Given the description of an element on the screen output the (x, y) to click on. 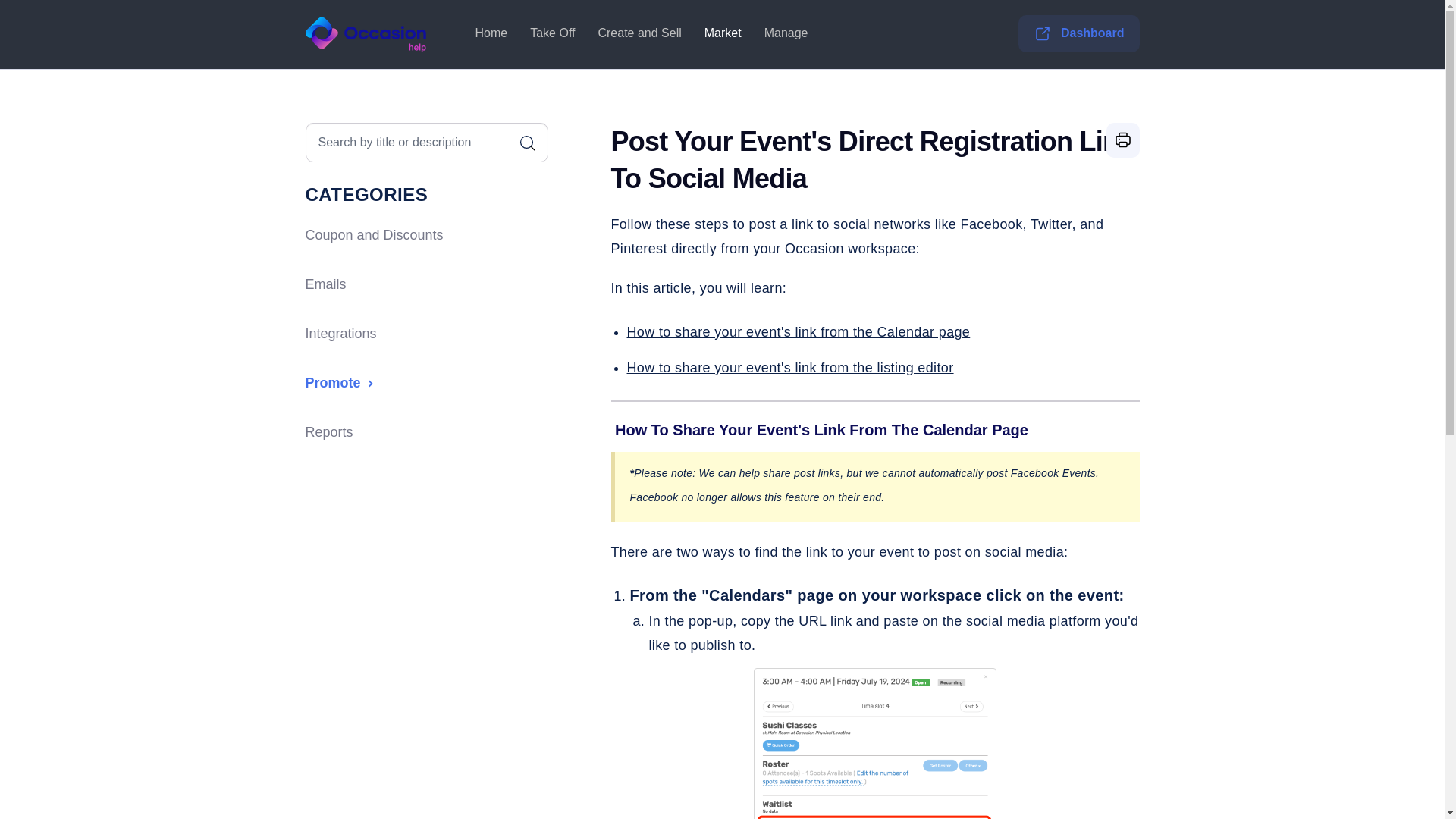
search-query (425, 142)
Market (722, 33)
Integrations (339, 333)
Coupon and Discounts (373, 235)
Print this article (1121, 140)
How to share your event's link from the listing editor (789, 367)
Promote (340, 382)
Manage (785, 33)
Reports (328, 432)
How to share your event's link from the Calendar page (797, 331)
Dashboard (1095, 33)
Home (491, 33)
Take Off (552, 33)
Dashboard (1078, 33)
Create and Sell (639, 33)
